Given the description of an element on the screen output the (x, y) to click on. 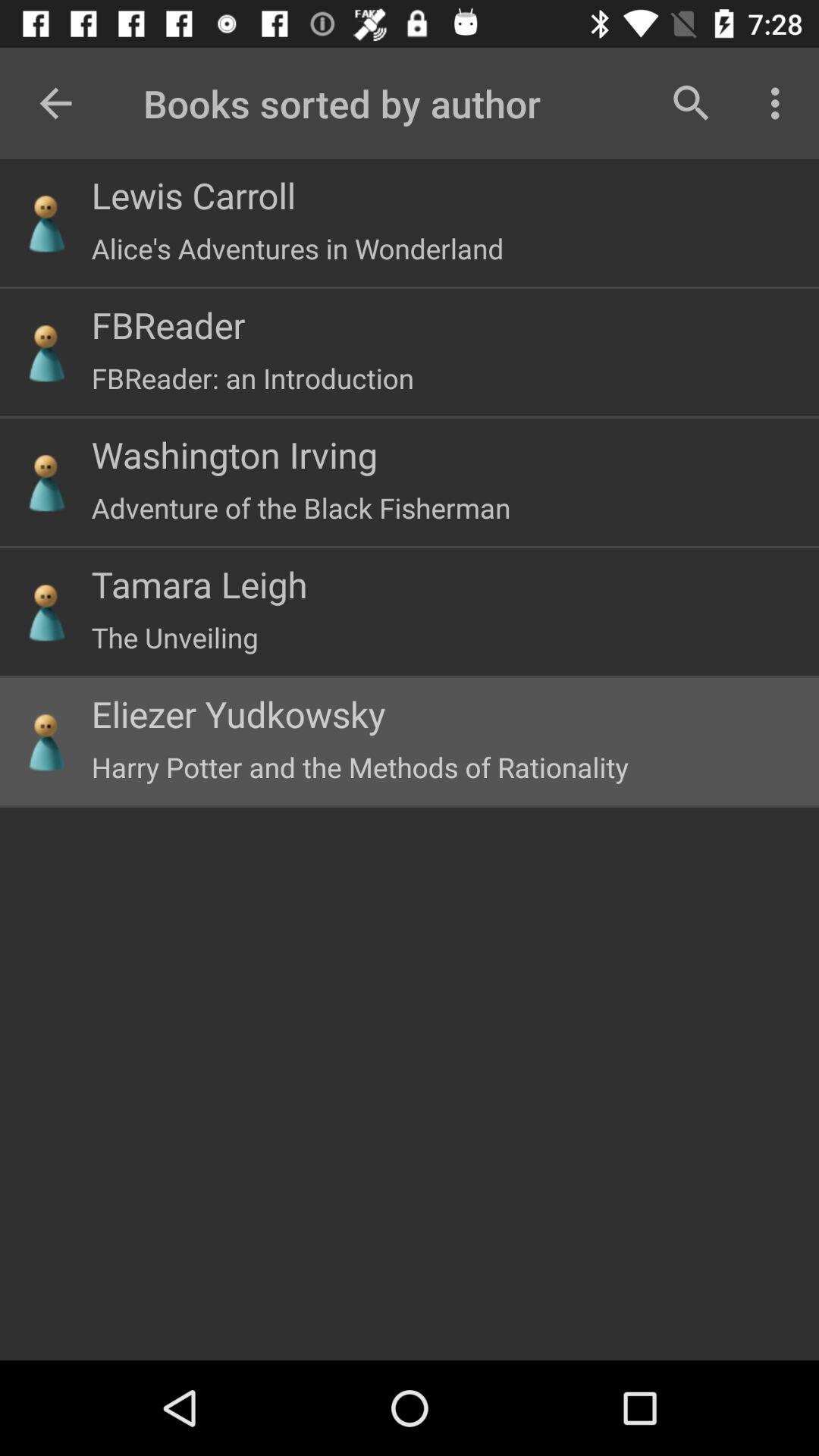
open the washington irving (234, 454)
